Given the description of an element on the screen output the (x, y) to click on. 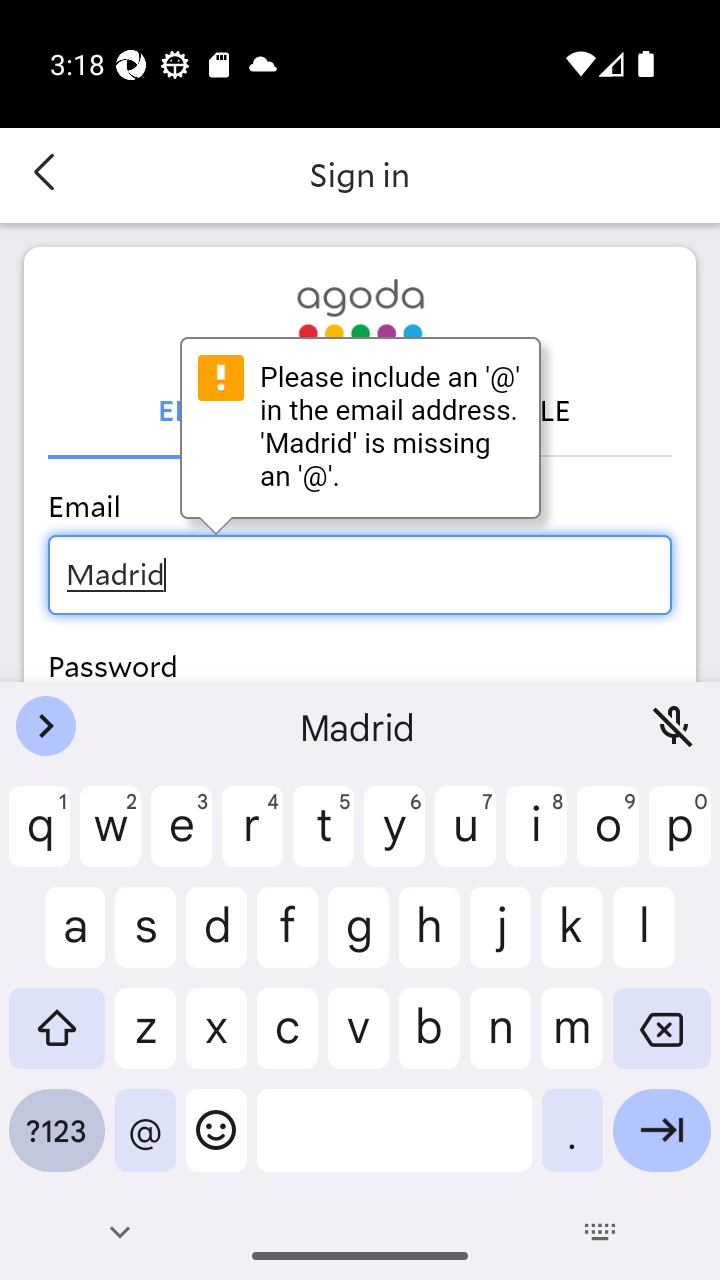
Madrid (359, 574)
